Given the description of an element on the screen output the (x, y) to click on. 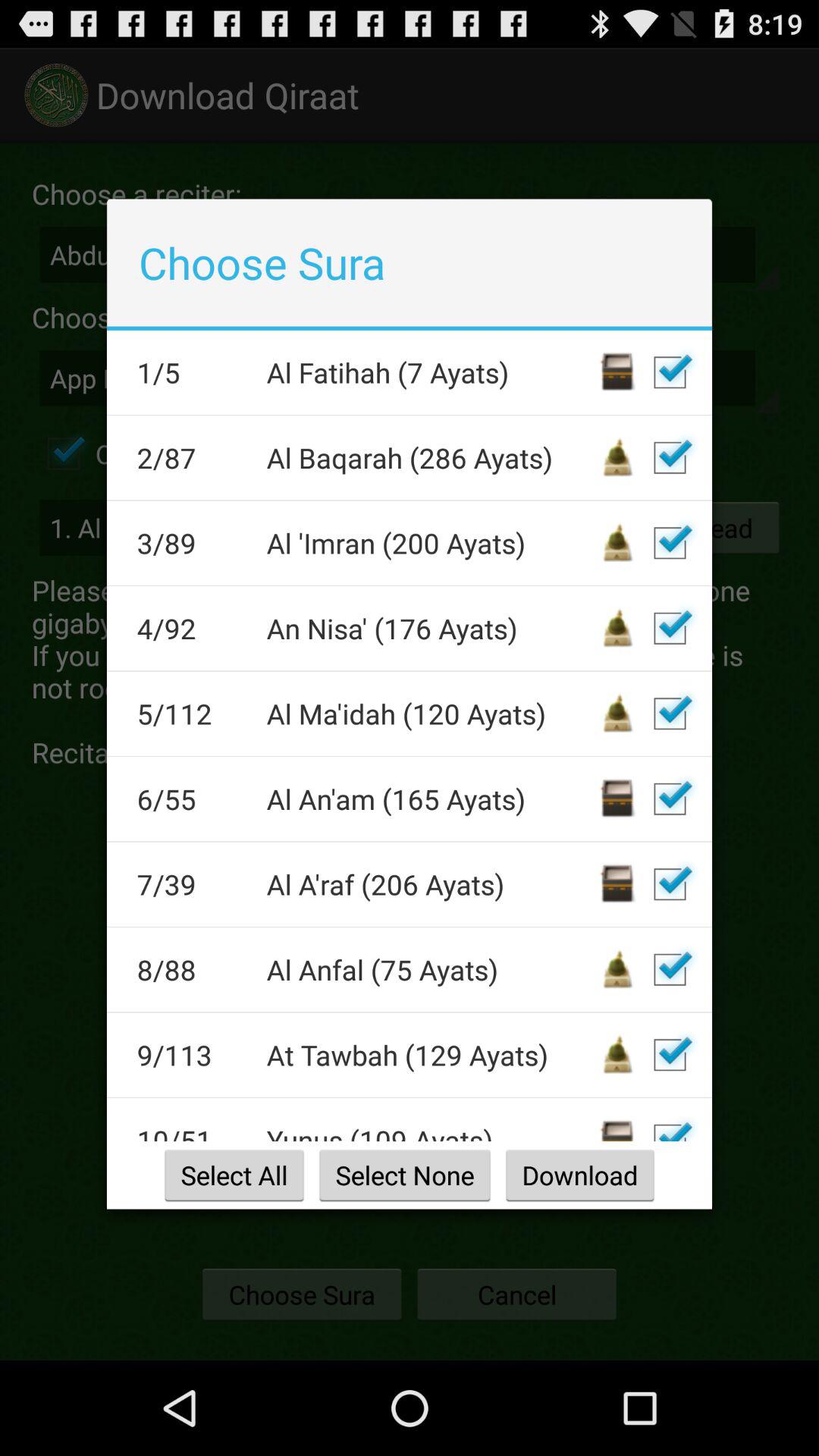
toggle download selection (669, 543)
